Given the description of an element on the screen output the (x, y) to click on. 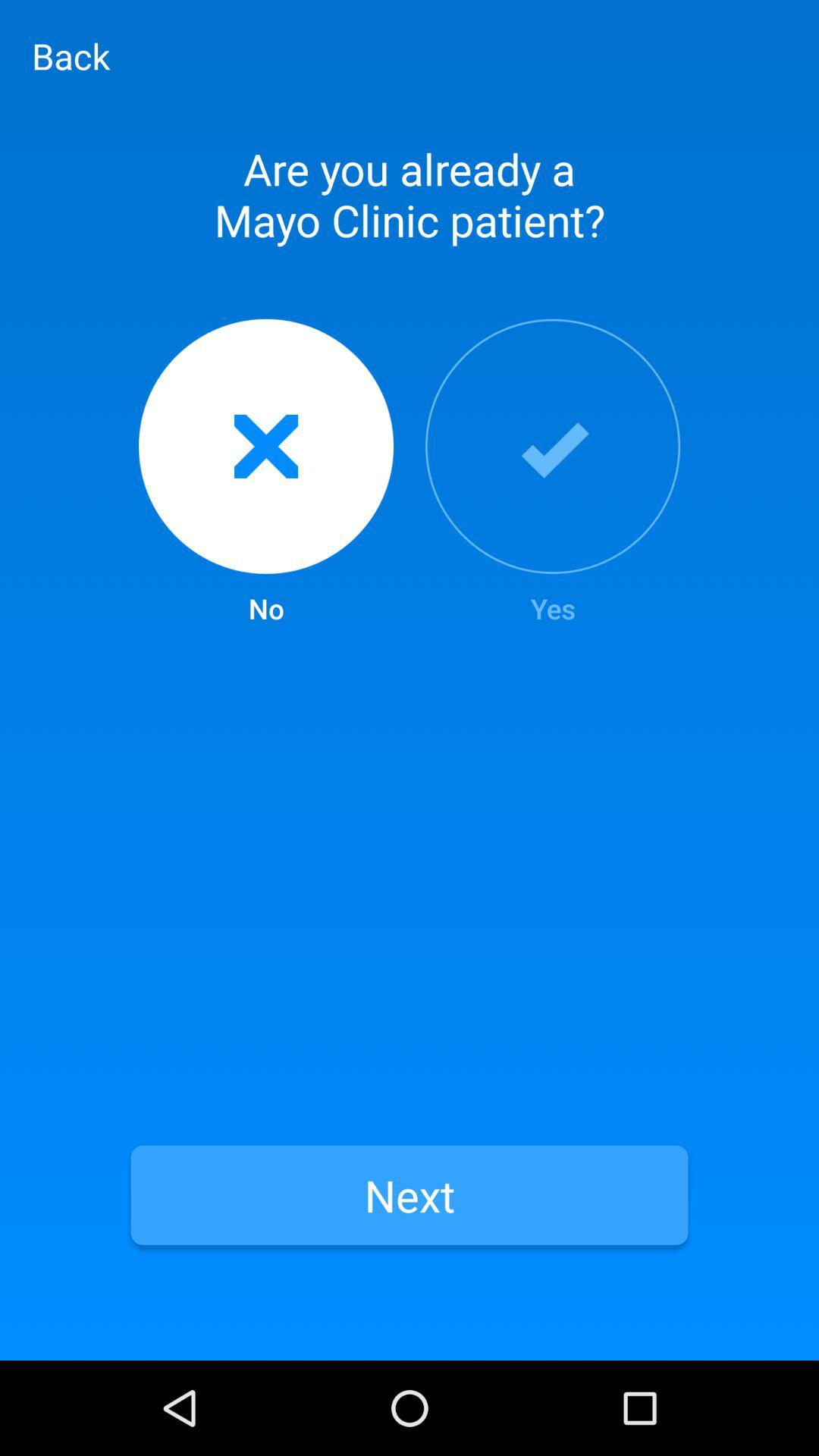
turn off icon below are you already item (265, 473)
